Given the description of an element on the screen output the (x, y) to click on. 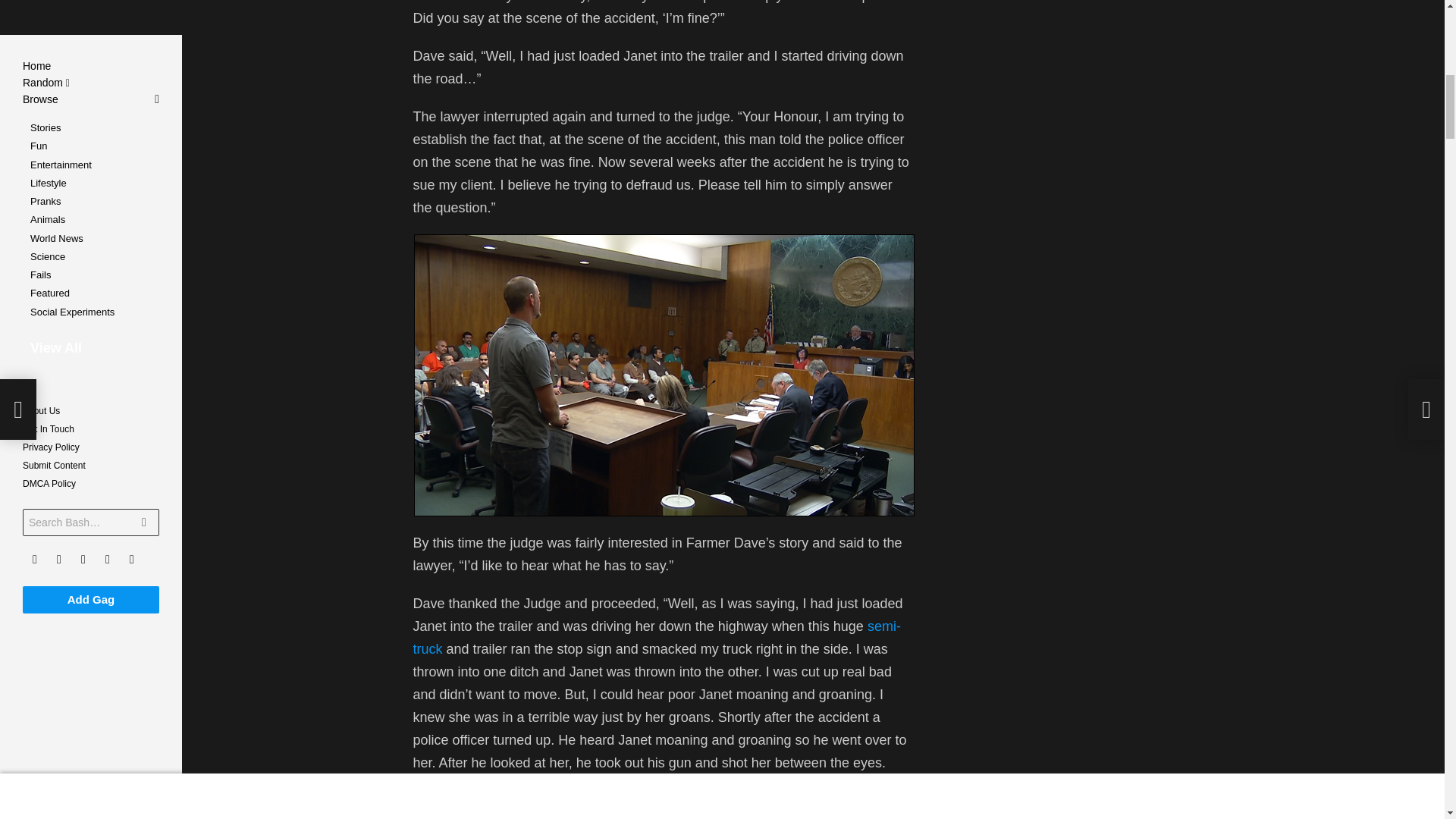
semi-truck (655, 637)
